Given the description of an element on the screen output the (x, y) to click on. 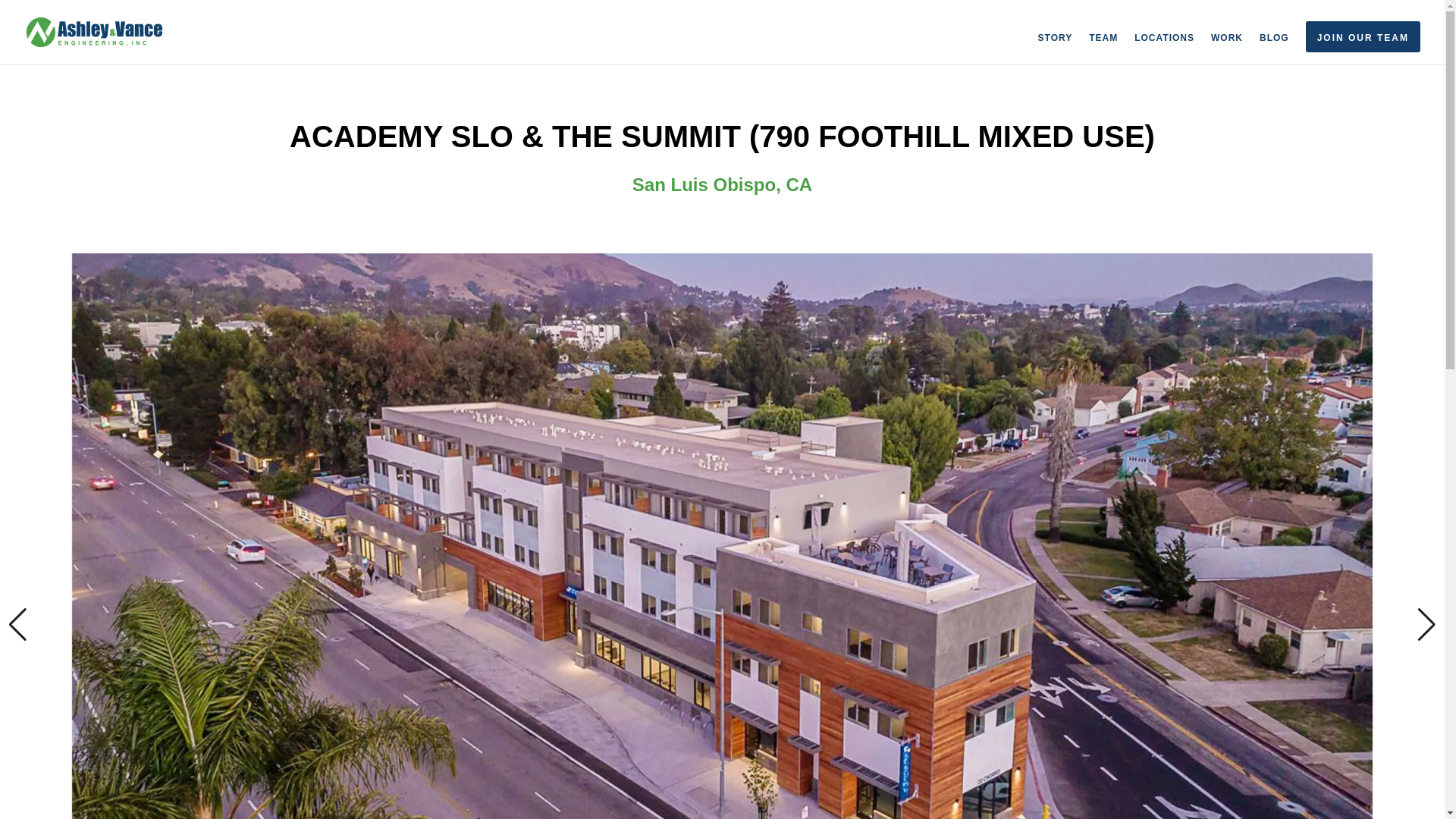
LOCATIONS (1163, 48)
TEAM (1103, 48)
BLOG (1273, 48)
STORY (1055, 48)
JOIN OUR TEAM (1363, 36)
WORK (1227, 48)
